Given the description of an element on the screen output the (x, y) to click on. 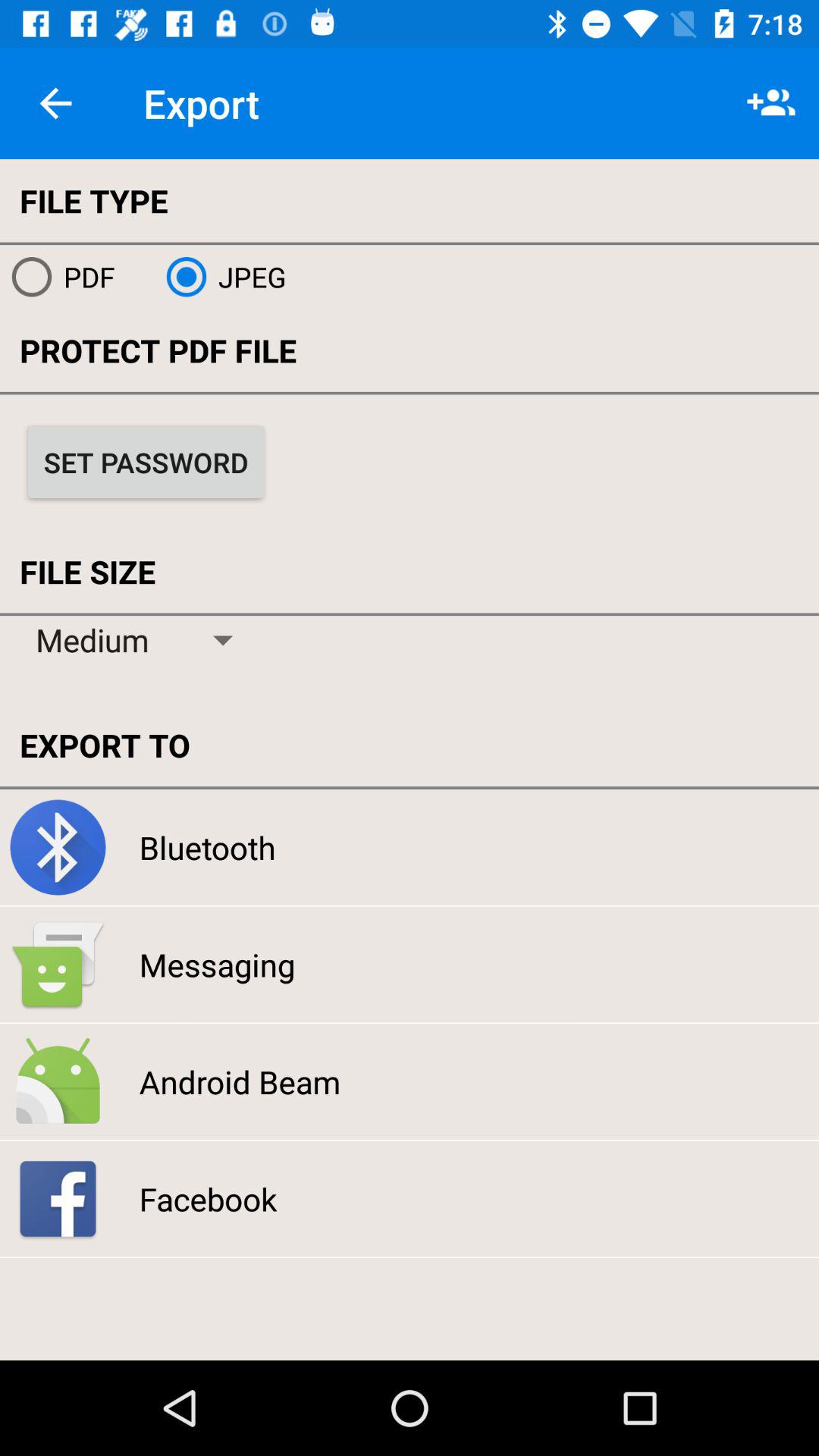
turn on android beam item (239, 1081)
